Given the description of an element on the screen output the (x, y) to click on. 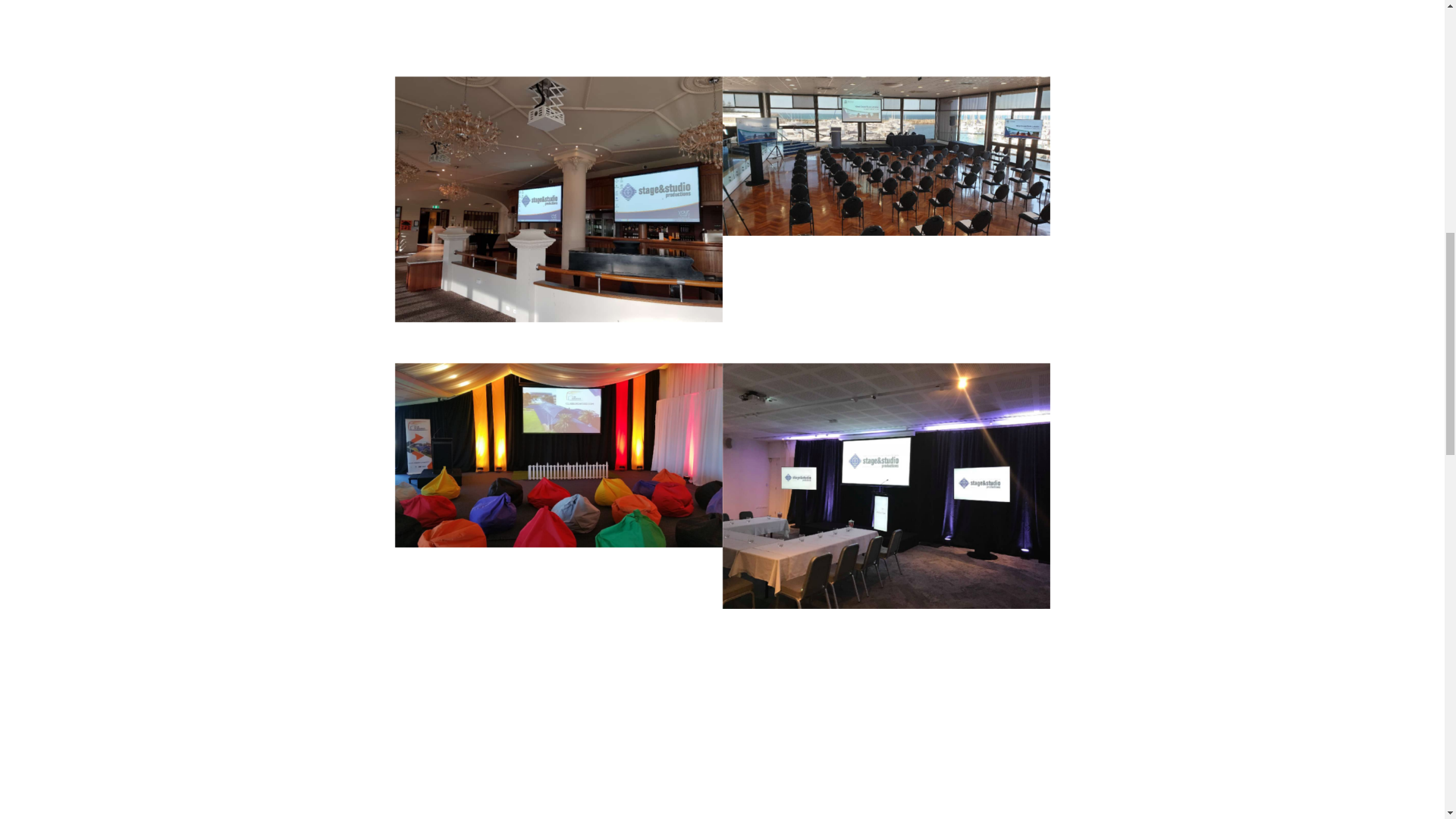
Alt Text (558, 455)
Alt Text (558, 199)
Alt Text (885, 155)
Alt Text (885, 486)
